Given the description of an element on the screen output the (x, y) to click on. 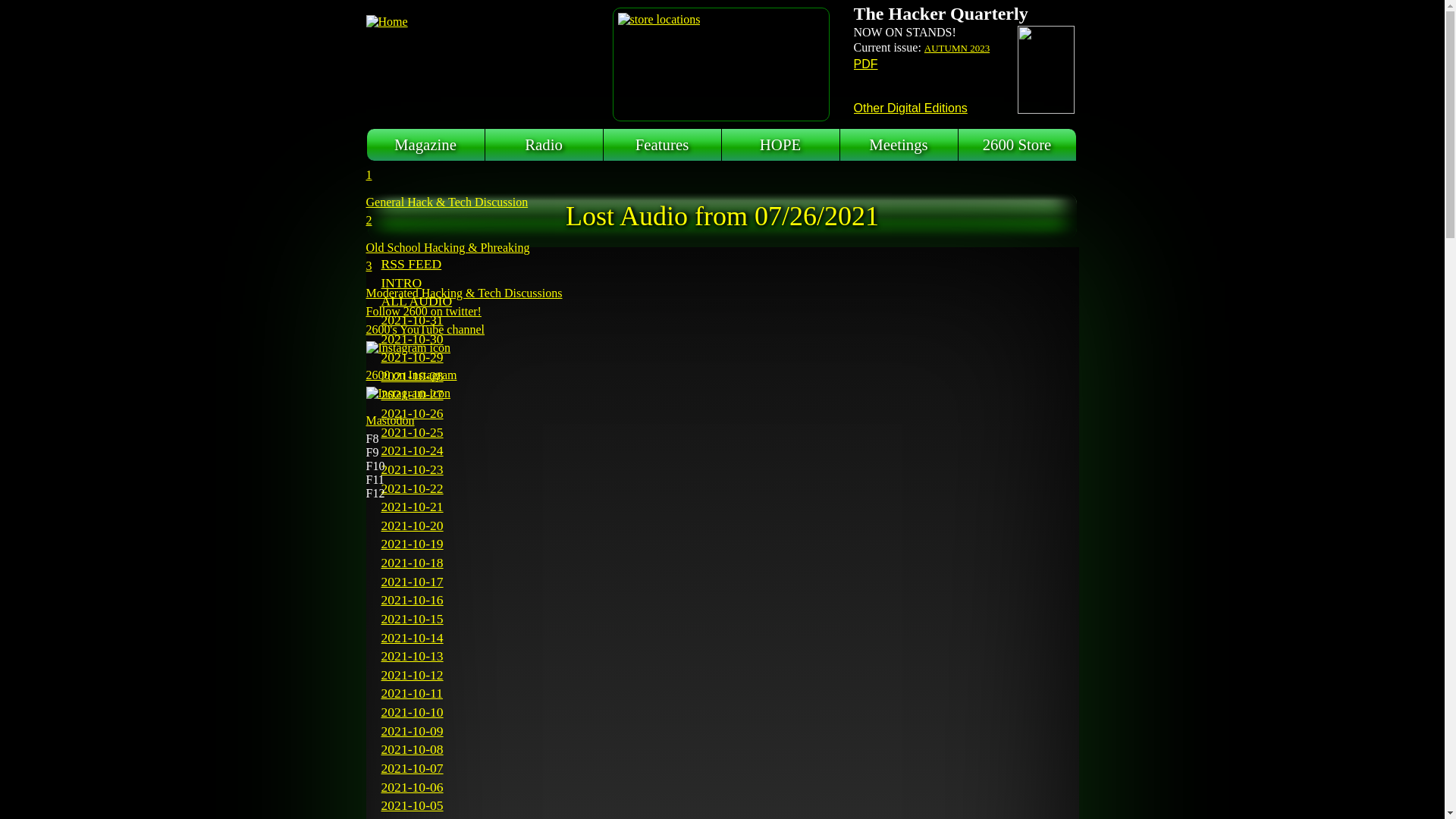
Radio Element type: text (543, 144)
2021-10-17 Element type: text (411, 581)
Features Element type: text (662, 144)
2021-10-27 Element type: text (411, 393)
ALL AUDIO Element type: text (415, 300)
2021-10-21 Element type: text (411, 506)
2

Old School Hacking & Phreaking Element type: text (463, 233)
2021-10-15 Element type: text (411, 618)
Skip to main content Element type: text (50, 0)
INTRO Element type: text (400, 282)
PDF Element type: text (865, 63)
Magazine Element type: text (425, 144)
2021-10-12 Element type: text (411, 674)
1

General Hack & Tech Discussion Element type: text (463, 188)
2021-10-30 Element type: text (411, 337)
2021-10-24 Element type: text (411, 450)
Meetings Element type: text (898, 144)
2021-10-28 Element type: text (411, 375)
AUTUMN 2023 Element type: text (956, 47)
2021-10-06 Element type: text (411, 786)
2600 on Instagram Element type: text (463, 361)
Home Element type: hover (479, 60)
Follow 2600 on twitter! Element type: text (463, 311)
2021-10-26 Element type: text (411, 412)
2021-10-11 Element type: text (411, 692)
2021-10-05 Element type: text (411, 804)
store locations Element type: hover (658, 18)
3

Moderated Hacking & Tech Discussions Element type: text (463, 279)
2021-10-14 Element type: text (411, 636)
2021-10-23 Element type: text (411, 468)
2021-10-10 Element type: text (411, 711)
2021-10-29 Element type: text (411, 356)
2021-10-13 Element type: text (411, 655)
2021-10-18 Element type: text (411, 562)
2021-10-07 Element type: text (411, 767)
2600 Store Element type: text (1017, 144)
2021-10-16 Element type: text (411, 599)
2021-10-31 Element type: text (411, 319)
2021-10-22 Element type: text (411, 487)
2021-10-08 Element type: text (411, 748)
2021-10-20 Element type: text (411, 525)
Other Digital Editions Element type: text (910, 107)
RSS FEED Element type: text (410, 263)
Mastodon Element type: text (463, 406)
store locations Element type: hover (658, 19)
HOPE Element type: text (780, 144)
2021-10-09 Element type: text (411, 730)
2021-10-25 Element type: text (411, 431)
2021-10-19 Element type: text (411, 543)
2600's YouTube channel Element type: text (463, 329)
